Given the description of an element on the screen output the (x, y) to click on. 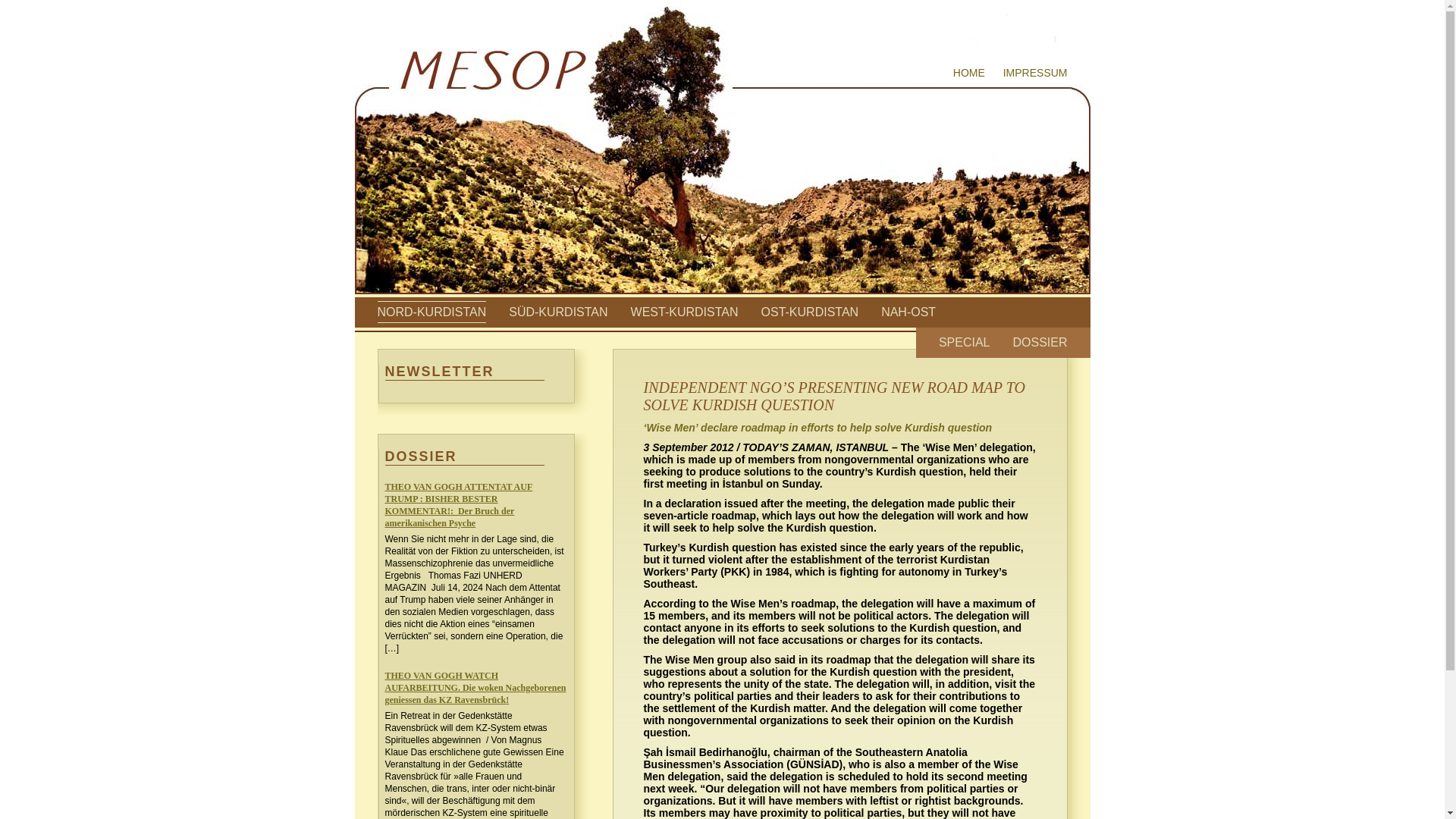
HOME (969, 72)
IMPRESSUM (1035, 72)
SPECIAL (964, 341)
OST-KURDISTAN (810, 311)
NAH-OST (908, 311)
DOSSIER (1039, 341)
WEST-KURDISTAN (684, 311)
NORD-KURDISTAN (431, 311)
